Given the description of an element on the screen output the (x, y) to click on. 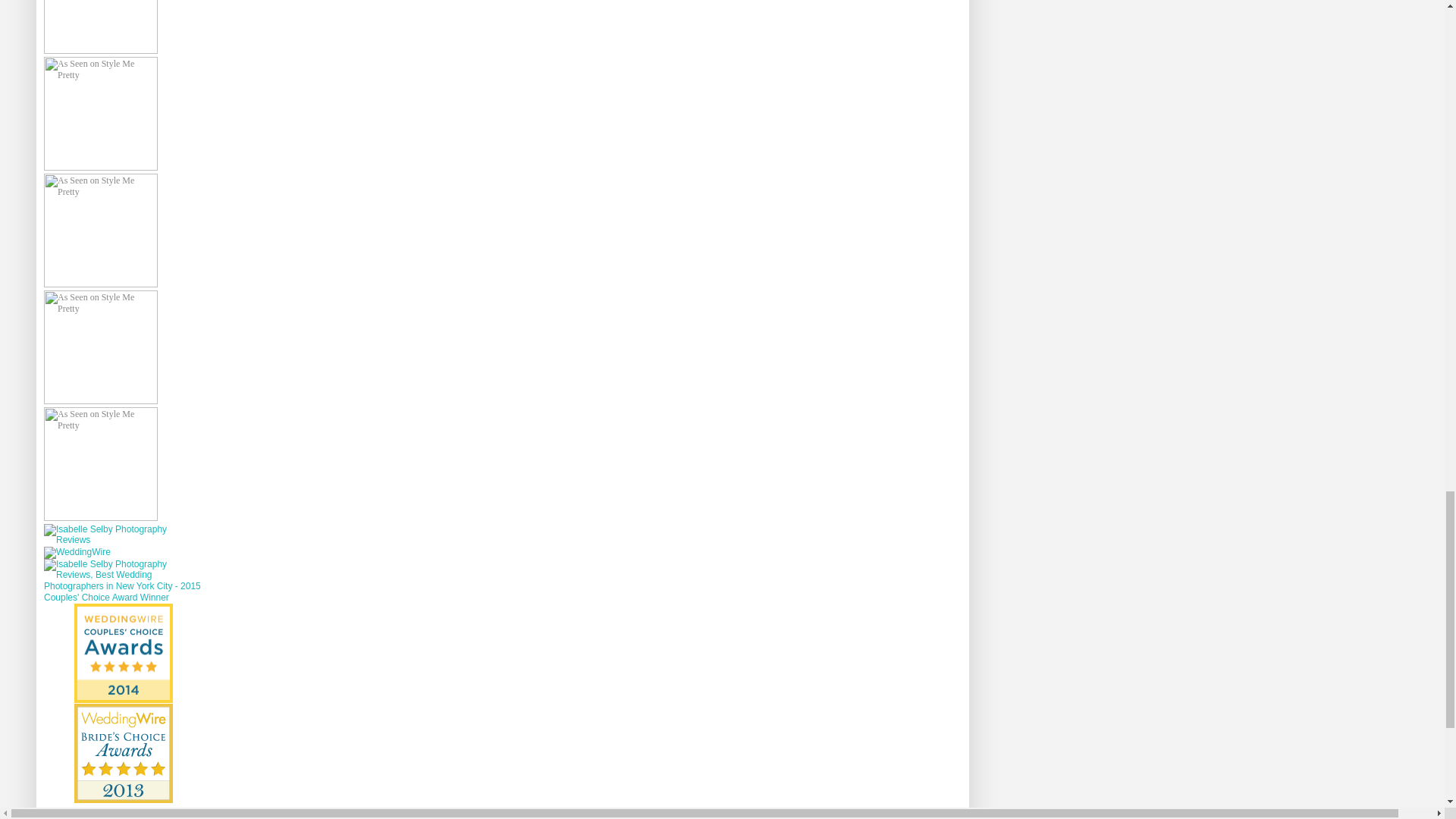
As Seen on Style Me Pretty (100, 113)
As Seen on Style Me Pretty (100, 27)
Isabelle Selby Photography Reviews (123, 539)
As Seen on Style Me Pretty (100, 463)
As Seen on Style Me Pretty (100, 347)
As Seen on Style Me Pretty (100, 230)
